Given the description of an element on the screen output the (x, y) to click on. 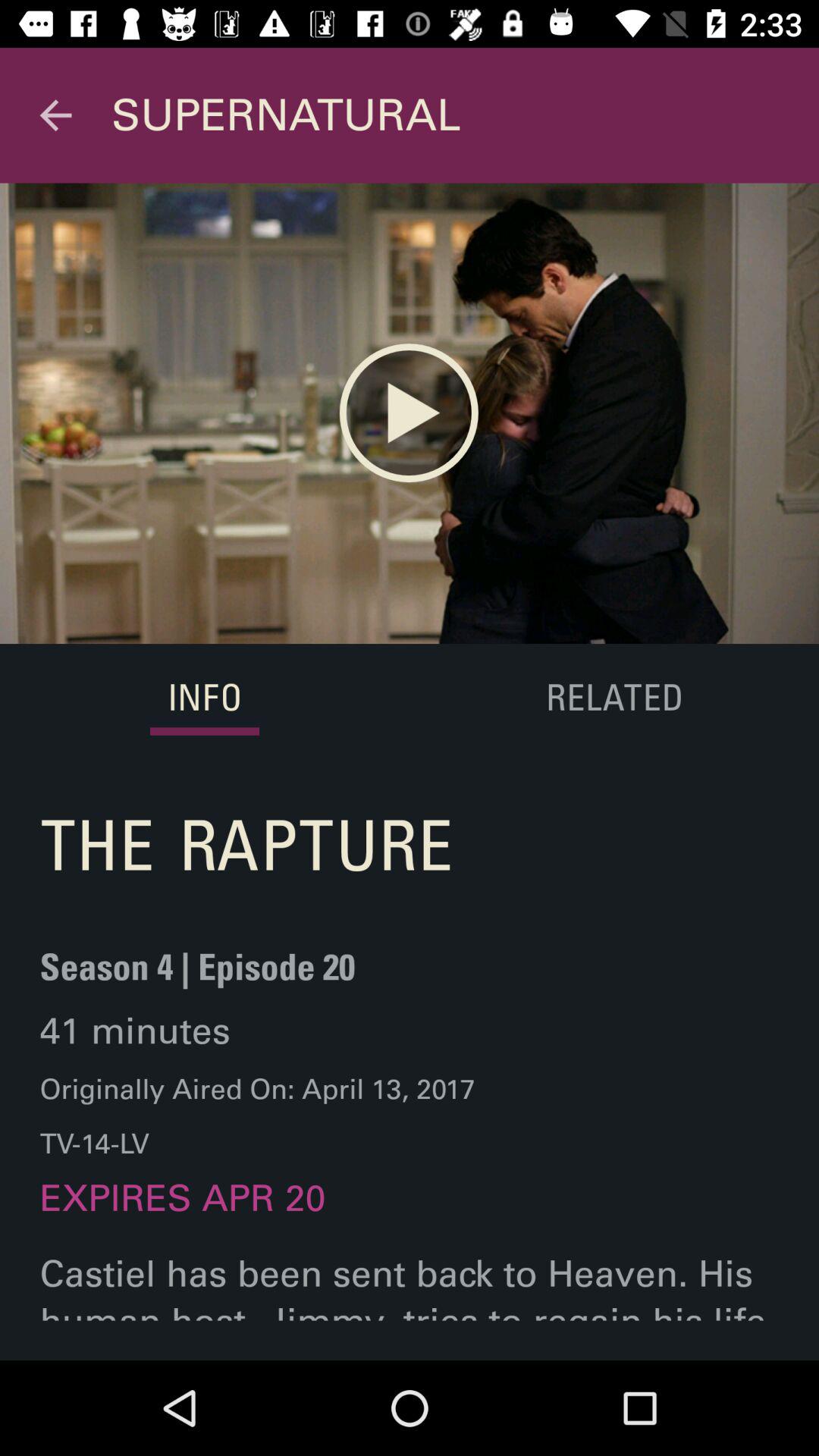
tap item below the season 4 episode item (134, 1030)
